Given the description of an element on the screen output the (x, y) to click on. 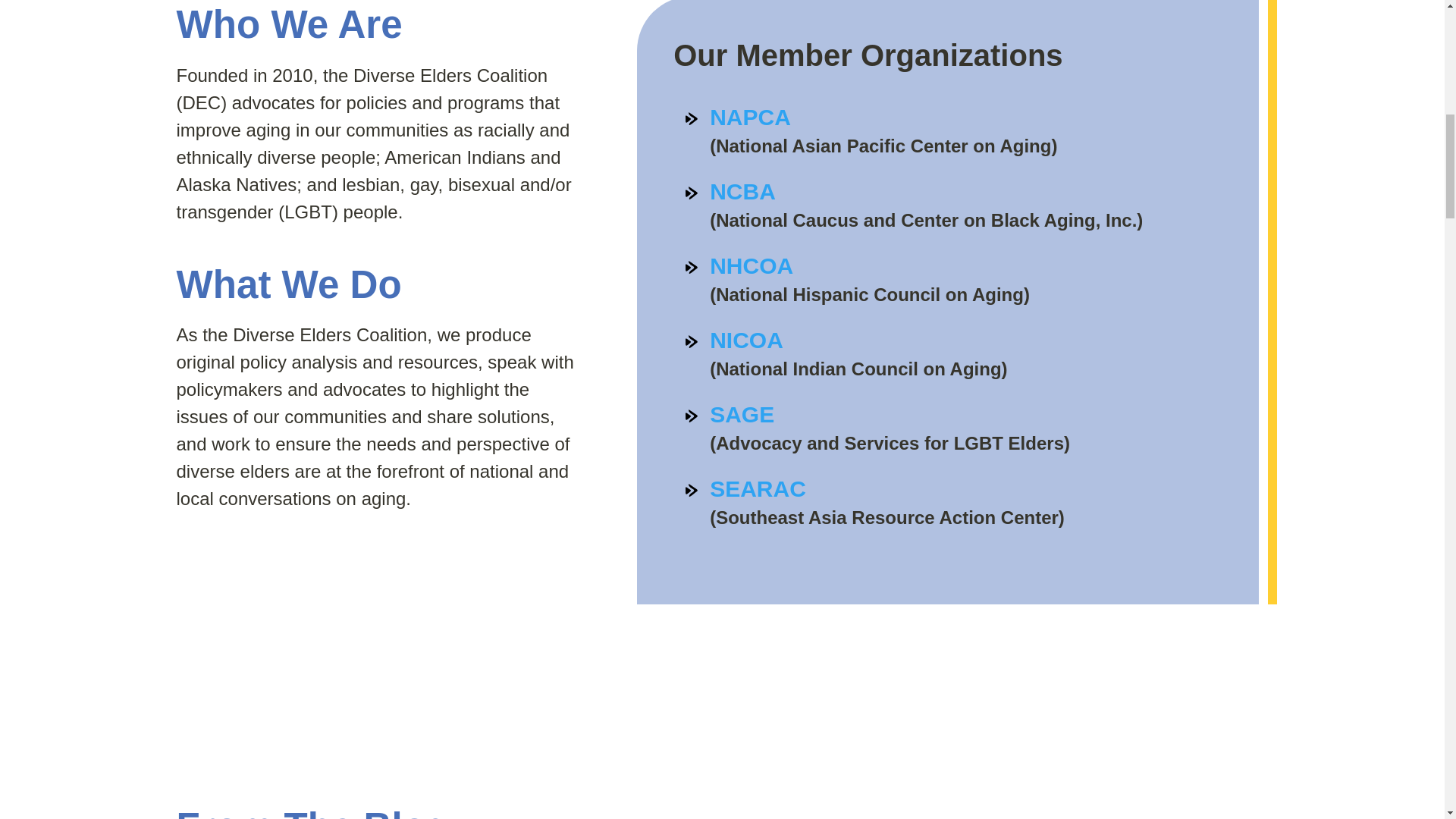
NHCOA (751, 265)
NICOA (746, 339)
NAPCA (750, 116)
SEARAC (758, 488)
NCBA (743, 191)
SAGE (742, 414)
